Given the description of an element on the screen output the (x, y) to click on. 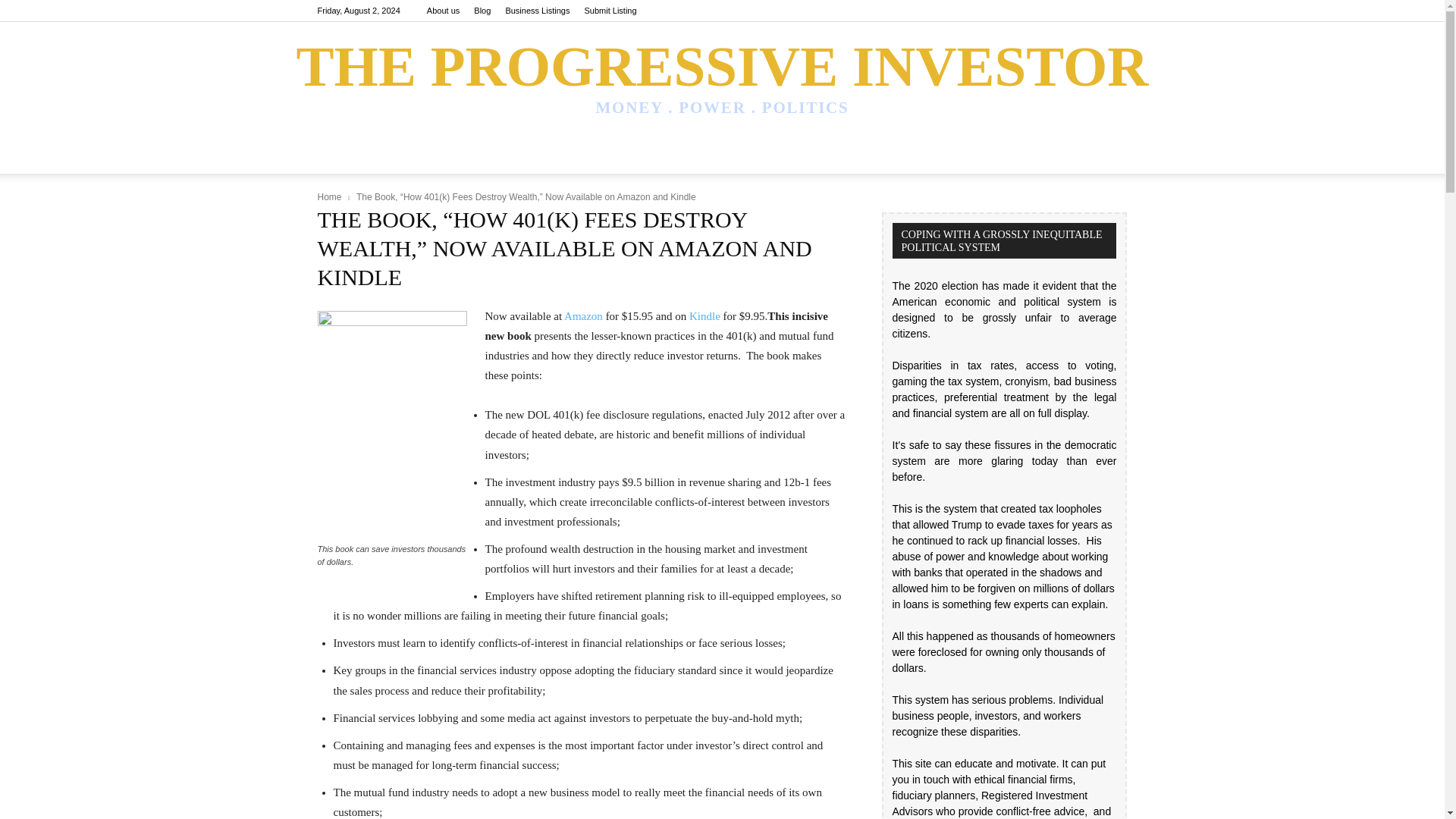
RESOURCES (544, 155)
Kindle (705, 316)
About us (443, 10)
Business Listings (537, 10)
Amazon (584, 316)
BUSINESS LISTINGS (742, 155)
Search (1085, 215)
CHUCK EPSTEIN BIO (434, 155)
HOME (343, 155)
THE PROGRESSIVE INVESTOR MONEY . POWER . POLITICS (722, 81)
SUBMIT LISTING (859, 155)
Home (328, 196)
Blog (482, 10)
Kindle (705, 316)
Submit Listing (609, 10)
